Given the description of an element on the screen output the (x, y) to click on. 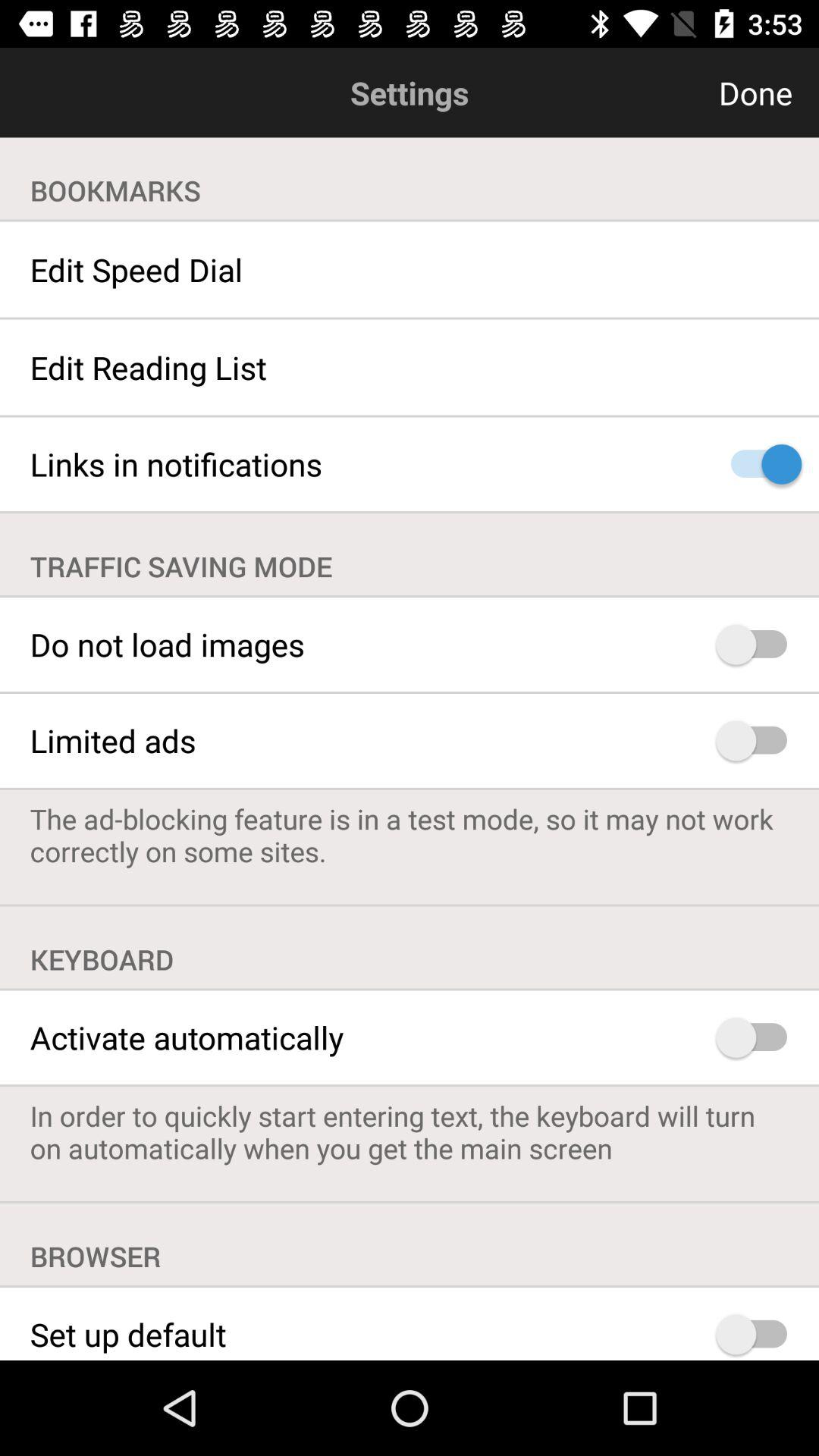
flip to edit speed dial icon (409, 269)
